Given the description of an element on the screen output the (x, y) to click on. 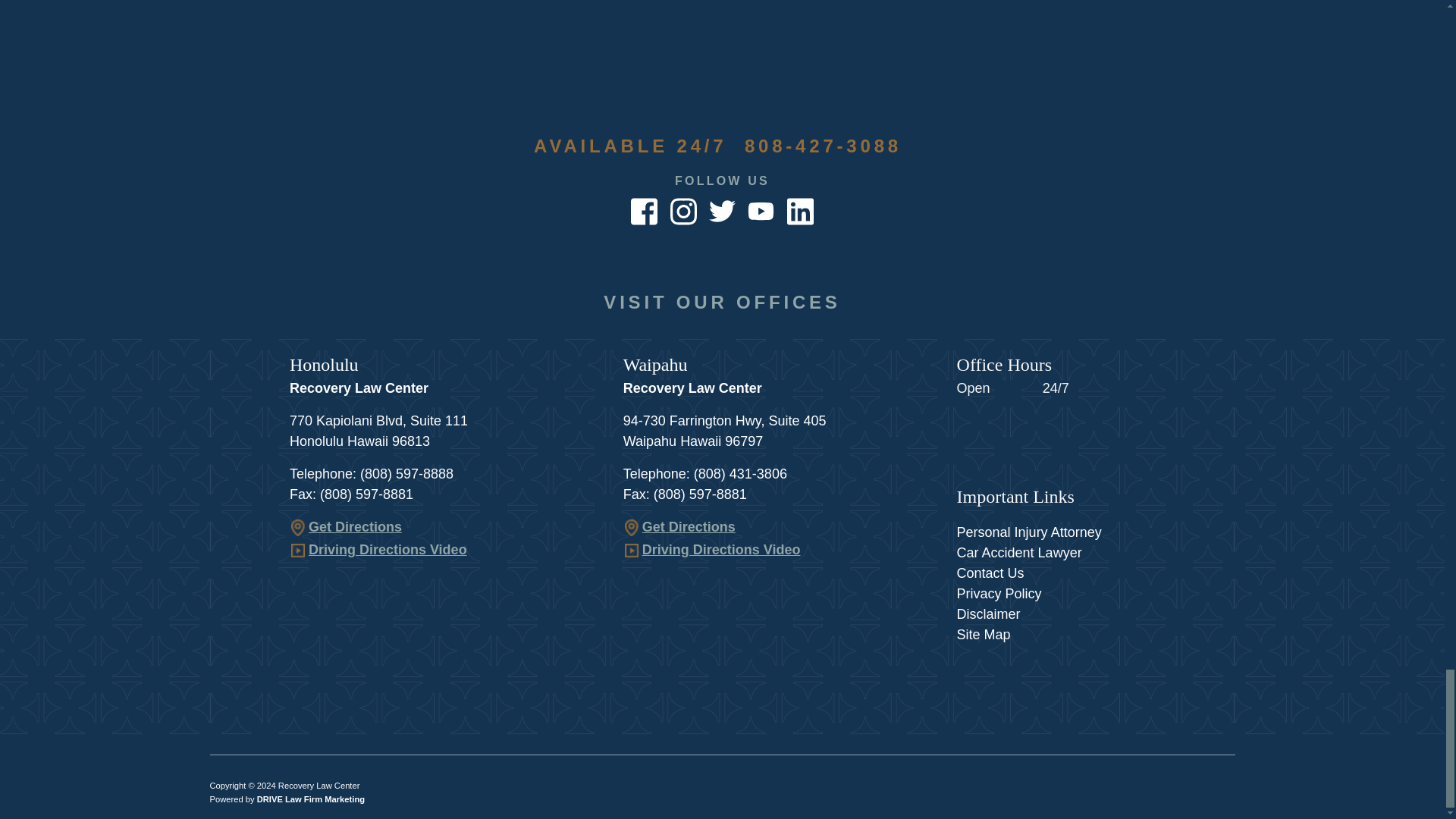
LinkedIn (800, 210)
Facebook (644, 210)
Youtube (760, 210)
Twitter (721, 210)
Instagram (683, 210)
